Given the description of an element on the screen output the (x, y) to click on. 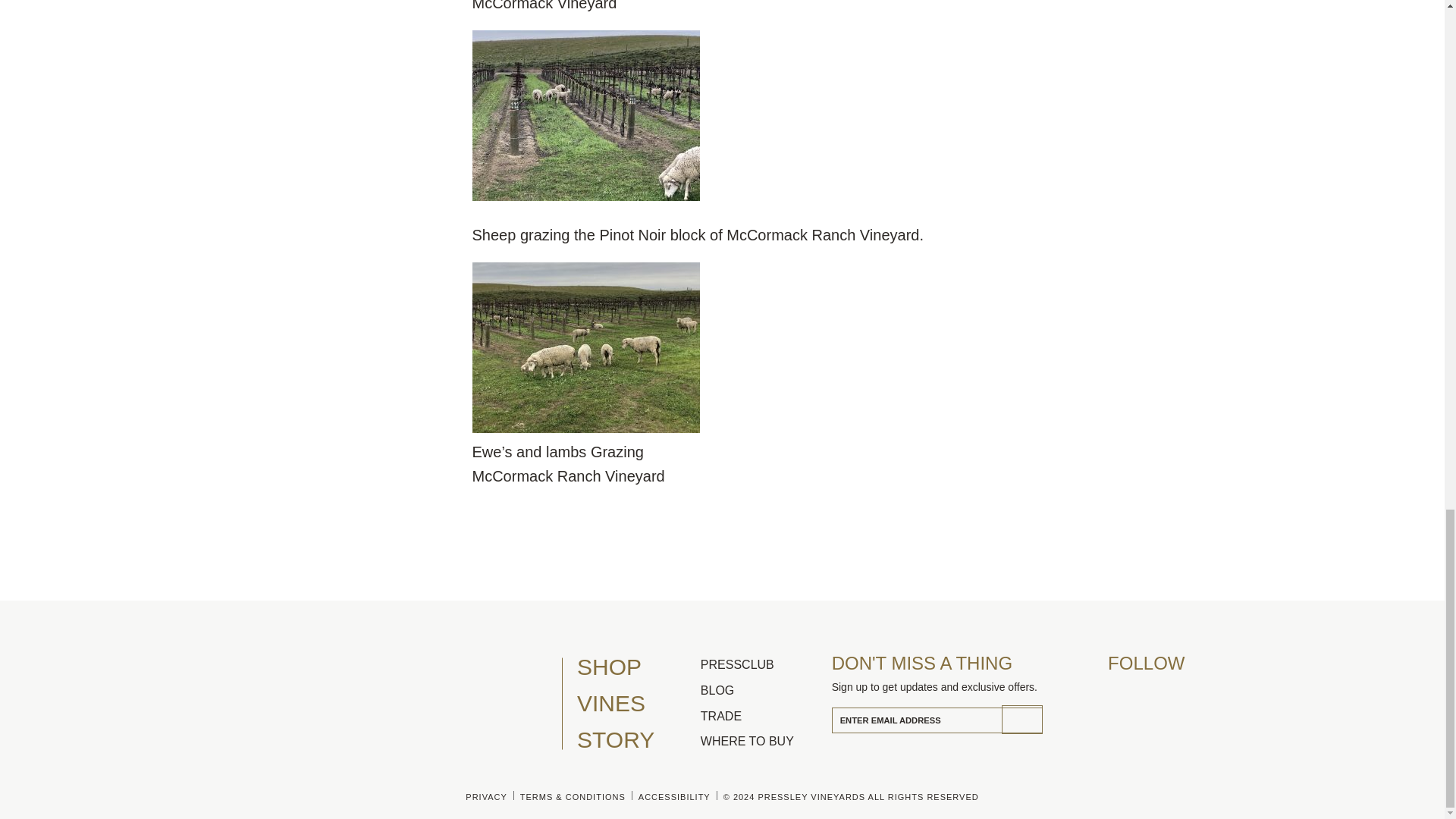
Where to Buy (761, 741)
Story (633, 739)
PRESSCLUB (761, 664)
BLOG (761, 690)
STORY (633, 739)
PRIVACY (486, 796)
WHERE TO BUY (761, 741)
TRADE (761, 716)
PressleyVineyards (1115, 690)
Trade (761, 716)
SHOP (633, 667)
Shop (633, 667)
VINES (633, 703)
ACCESSIBILITY (673, 796)
Pressclub (761, 664)
